Given the description of an element on the screen output the (x, y) to click on. 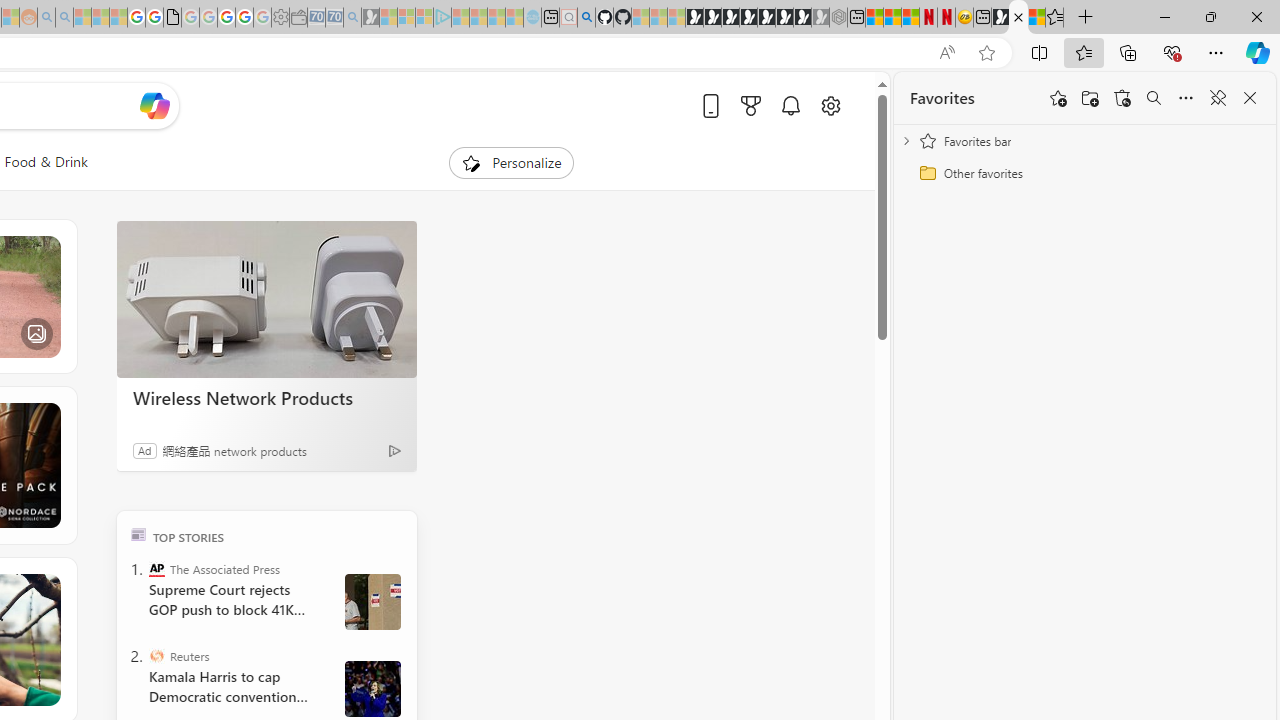
Add this page to favorites (1058, 98)
Wildlife - MSN (1017, 17)
